Given the description of an element on the screen output the (x, y) to click on. 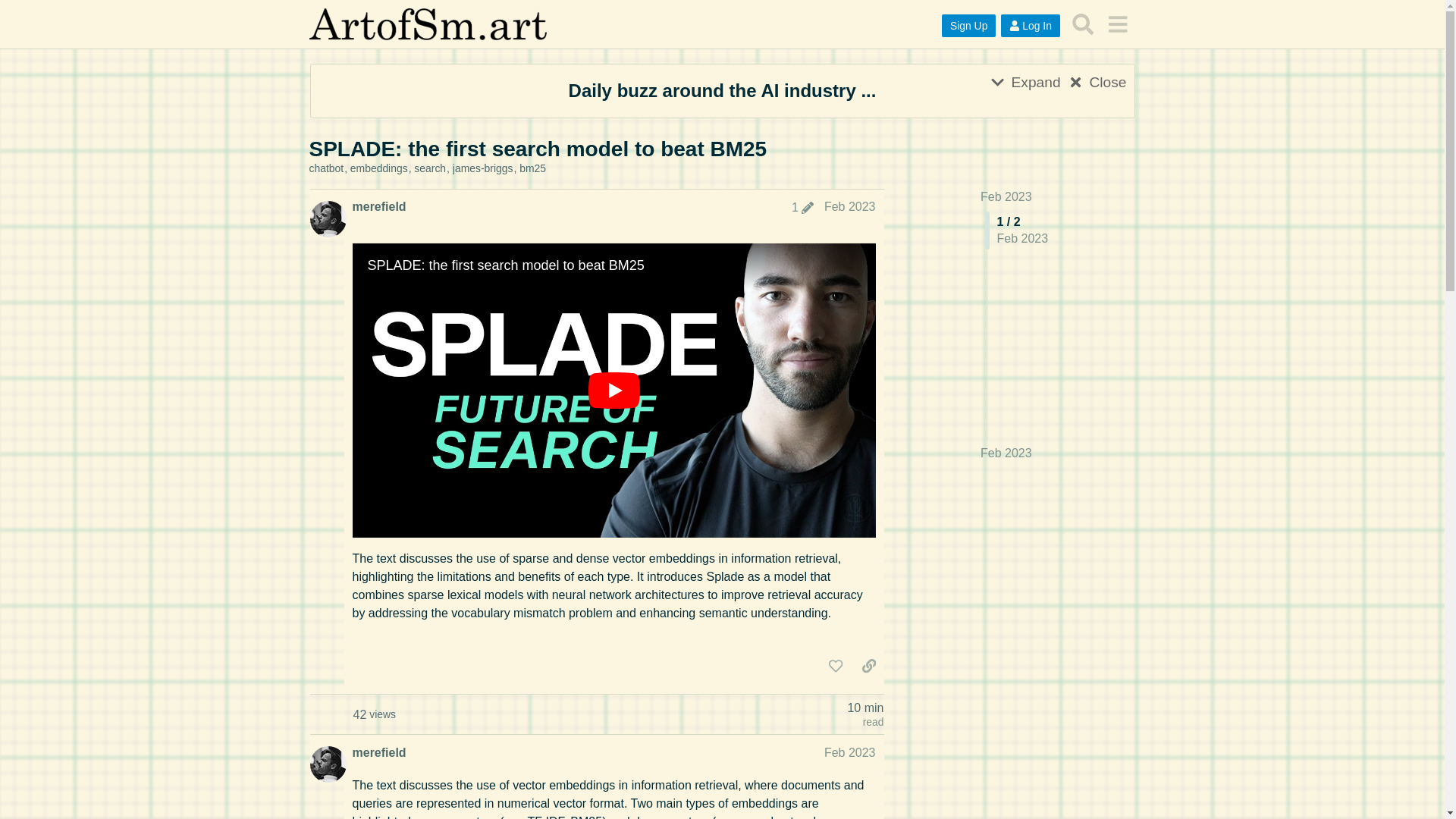
SPLADE: the first search model to beat BM25 (537, 148)
bm25 (532, 168)
Search (1082, 23)
Jump to the first post (1005, 196)
james-briggs (485, 168)
embeddings (382, 168)
Feb 2023 (1005, 453)
Log In (1030, 25)
Jump to the last post (1005, 452)
menu (1117, 23)
